Given the description of an element on the screen output the (x, y) to click on. 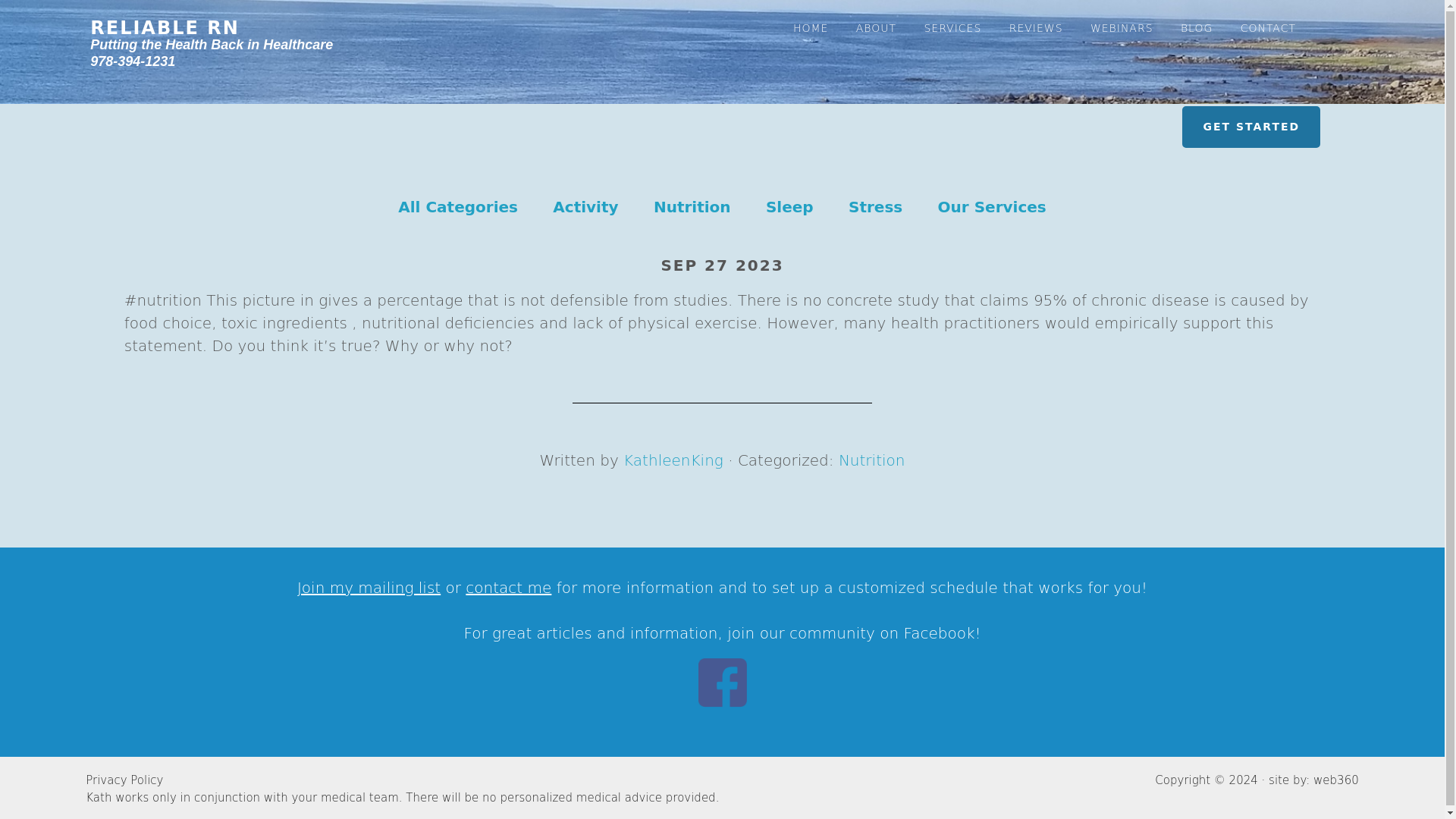
CONTACT (1267, 19)
Stress (875, 207)
All Categories (457, 207)
Homepage (211, 44)
KathleenKing (673, 460)
WEBINARS (1121, 19)
Activity (585, 207)
GET STARTED (1251, 127)
Nutrition (871, 460)
RELIABLE RN (165, 27)
